Given the description of an element on the screen output the (x, y) to click on. 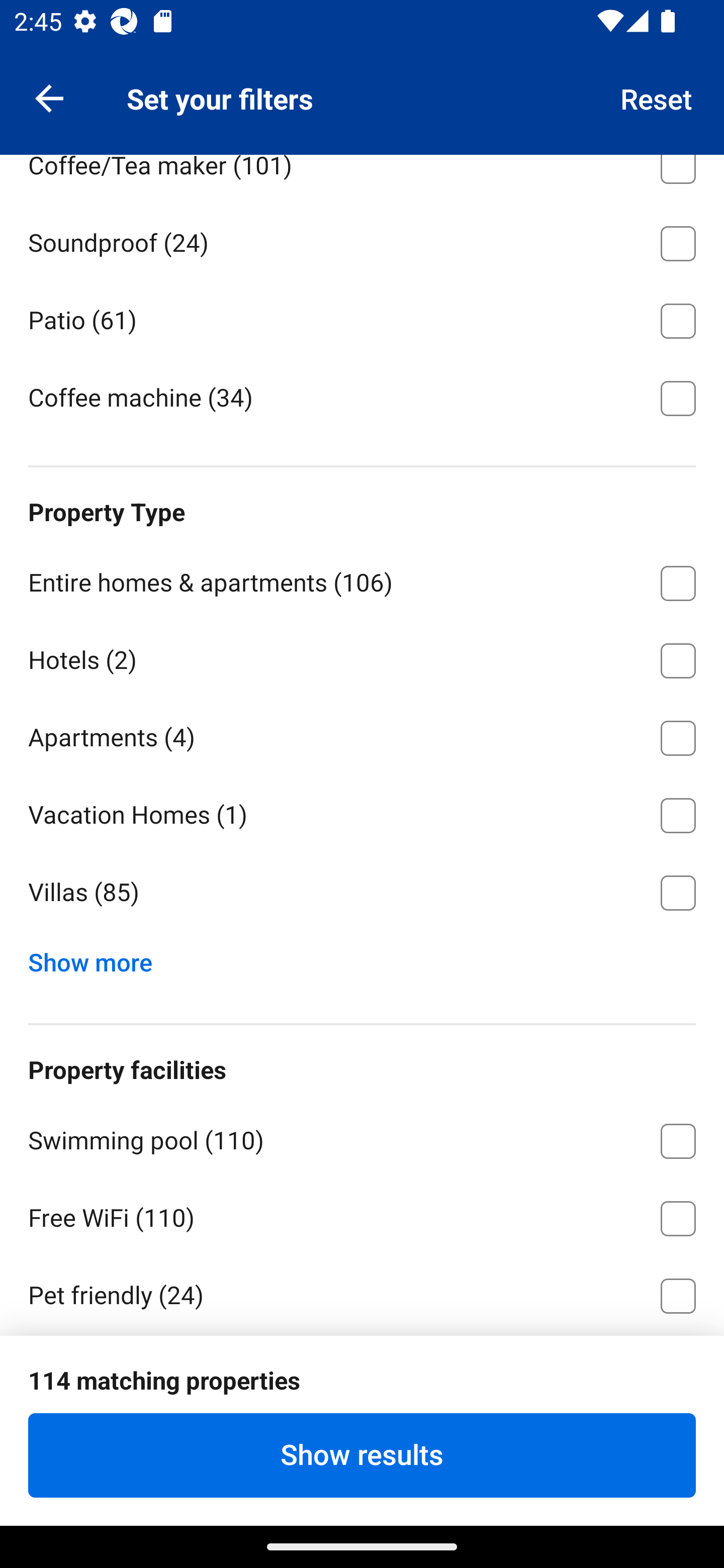
Electric kettle ⁦(84) (361, 85)
Navigate up (49, 97)
Reset (656, 97)
Coffee/Tea maker ⁦(101) (361, 178)
Soundproof ⁦(24) (361, 240)
Patio ⁦(61) (361, 317)
Coffee machine ⁦(34) (361, 396)
Entire homes & apartments ⁦(106) (361, 579)
Hotels ⁦(2) (361, 657)
Apartments ⁦(4) (361, 734)
Vacation Homes ⁦(1) (361, 812)
Villas ⁦(85) (361, 892)
Show more (97, 958)
Swimming pool ⁦(110) (361, 1137)
Free WiFi ⁦(110) (361, 1215)
Pet friendly ⁦(24) (361, 1292)
Show results (361, 1454)
